Given the description of an element on the screen output the (x, y) to click on. 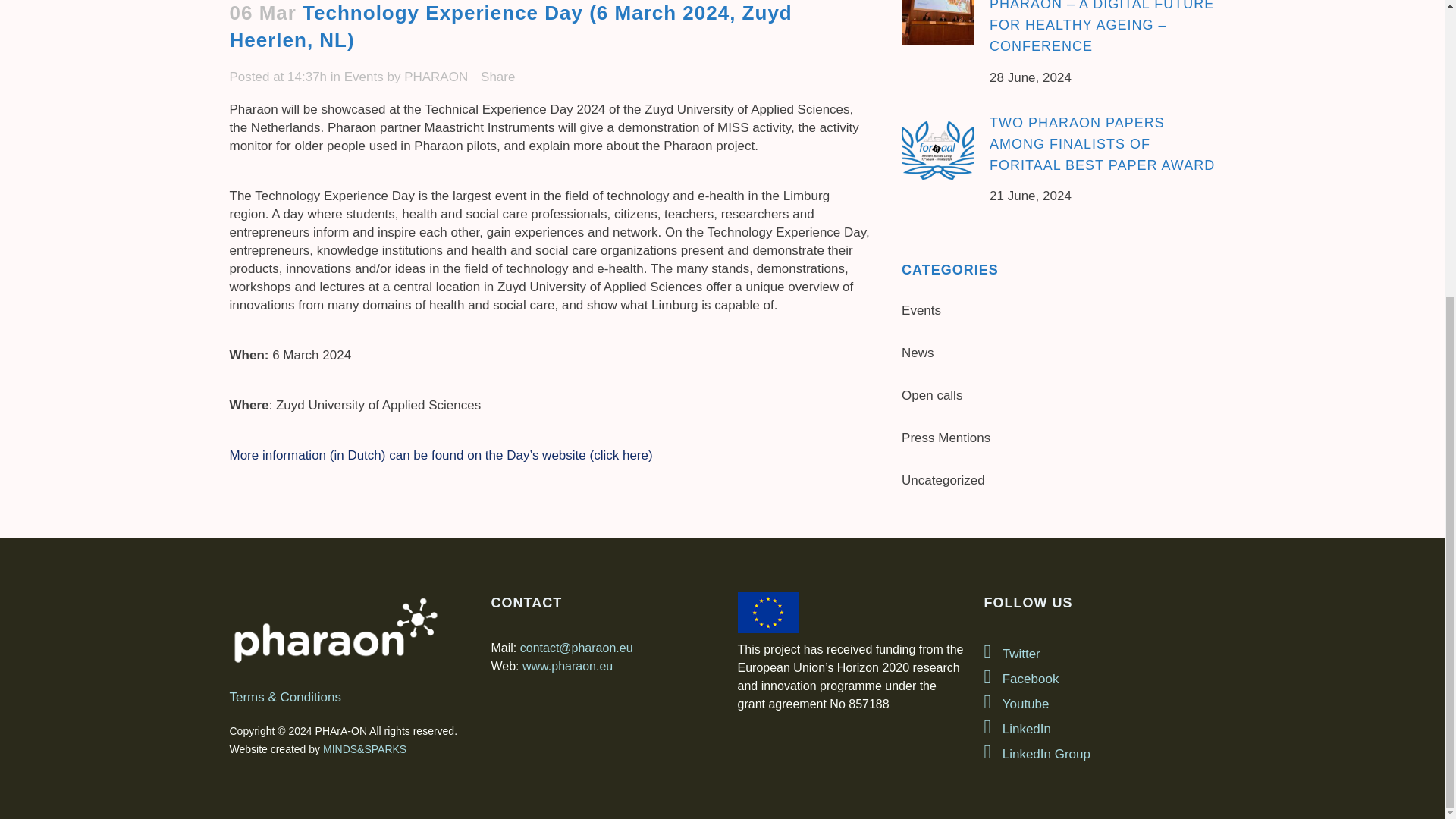
European Union flag (770, 612)
